Given the description of an element on the screen output the (x, y) to click on. 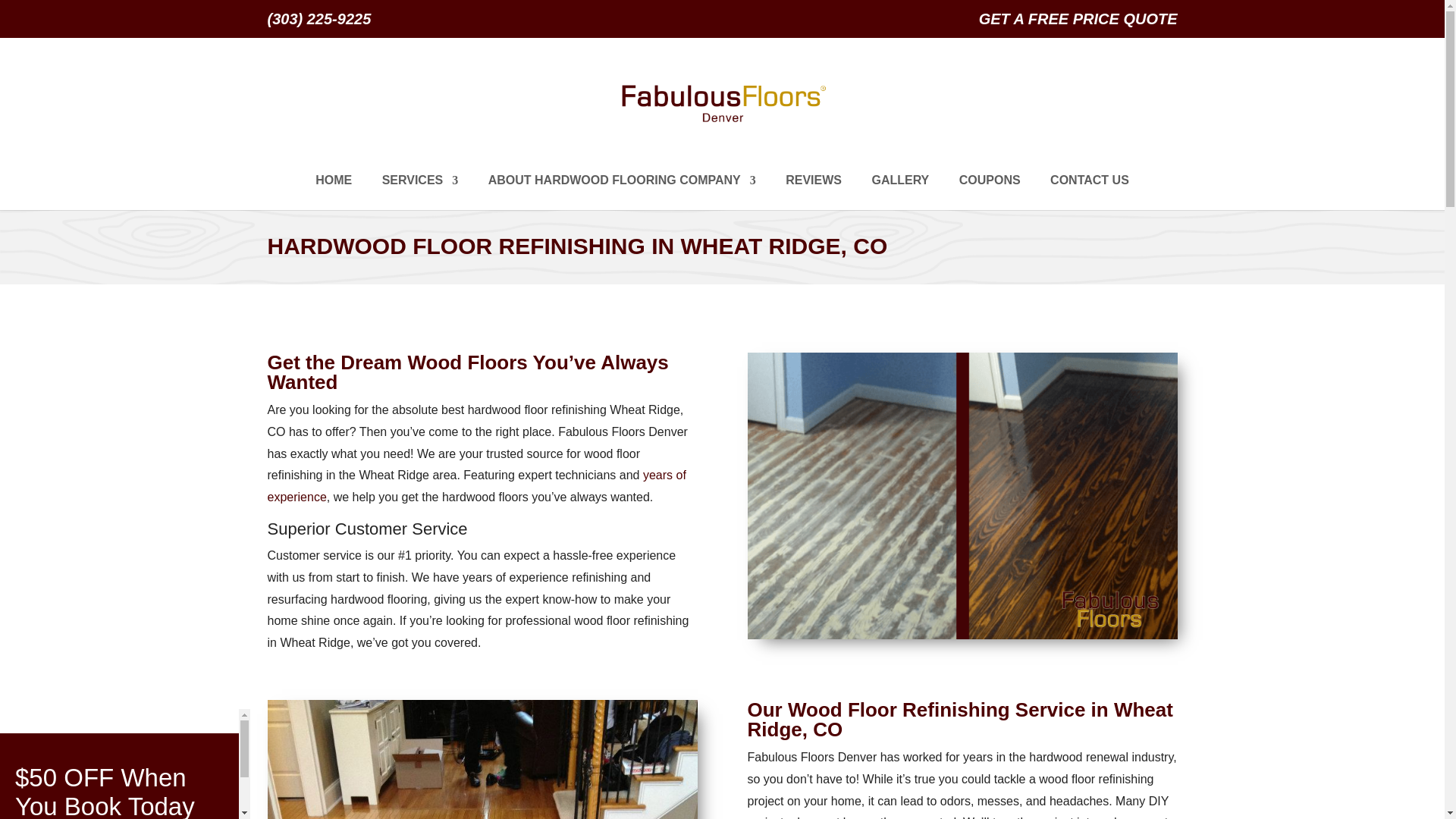
COUPONS (989, 192)
Customer Testimonials (813, 192)
GALLERY (899, 192)
Contact Us (1089, 192)
REVIEWS (813, 192)
After 22 (481, 759)
About Fabulous Floors Akron (621, 192)
SERVICES (419, 192)
ABOUT HARDWOOD FLOORING COMPANY (621, 192)
HOME (333, 192)
years of experience (475, 485)
CONTACT US (1089, 192)
Silverthorne Hardwood Floor Refinishing (962, 495)
GET A FREE PRICE QUOTE (1077, 24)
